Given the description of an element on the screen output the (x, y) to click on. 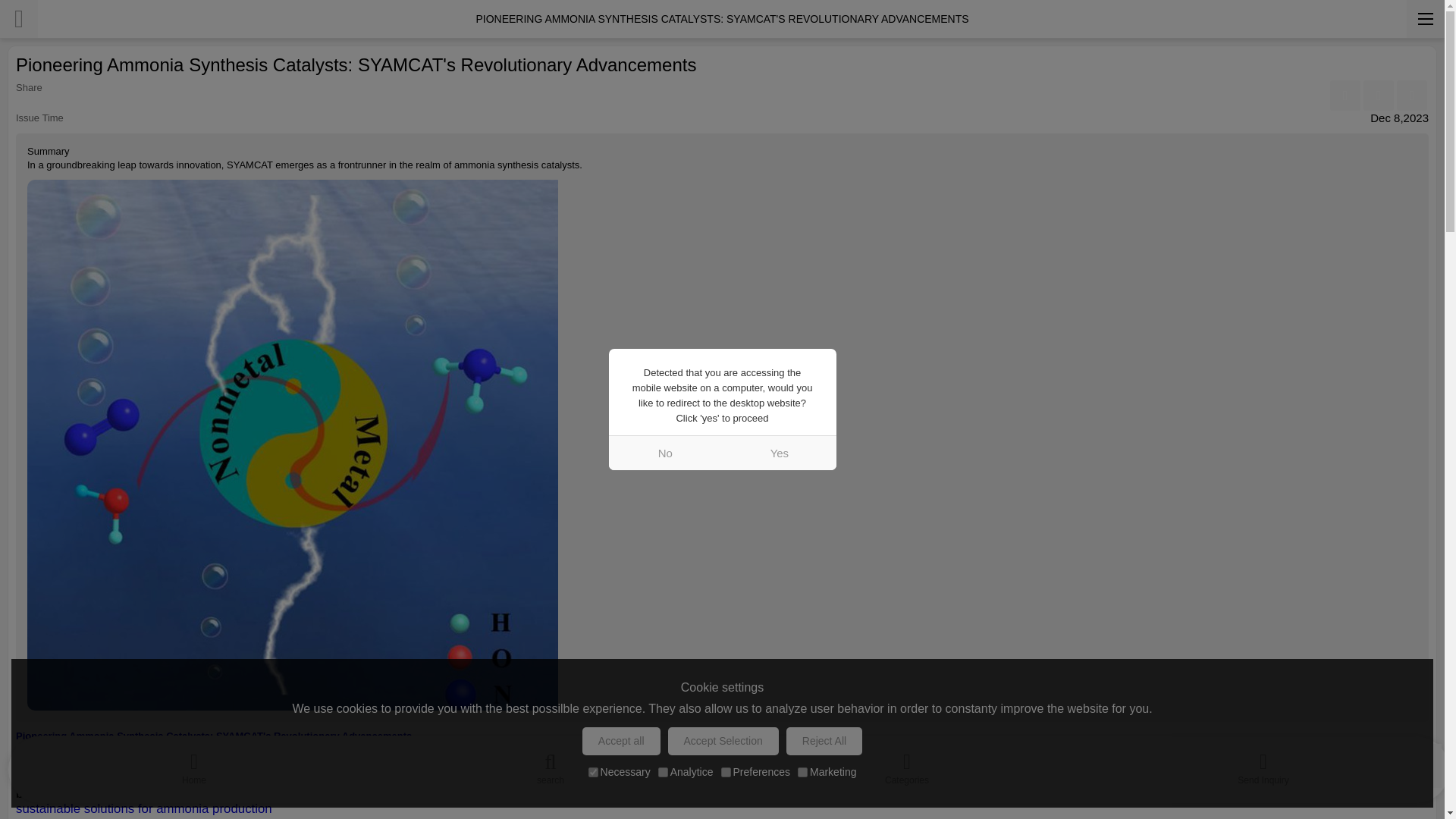
Send Inquiry (1262, 765)
Share Linkedin (1377, 95)
Accept all (621, 741)
Categories (906, 765)
search (550, 765)
No (665, 452)
on (802, 772)
Return (18, 18)
Accept Selection (723, 741)
